Given the description of an element on the screen output the (x, y) to click on. 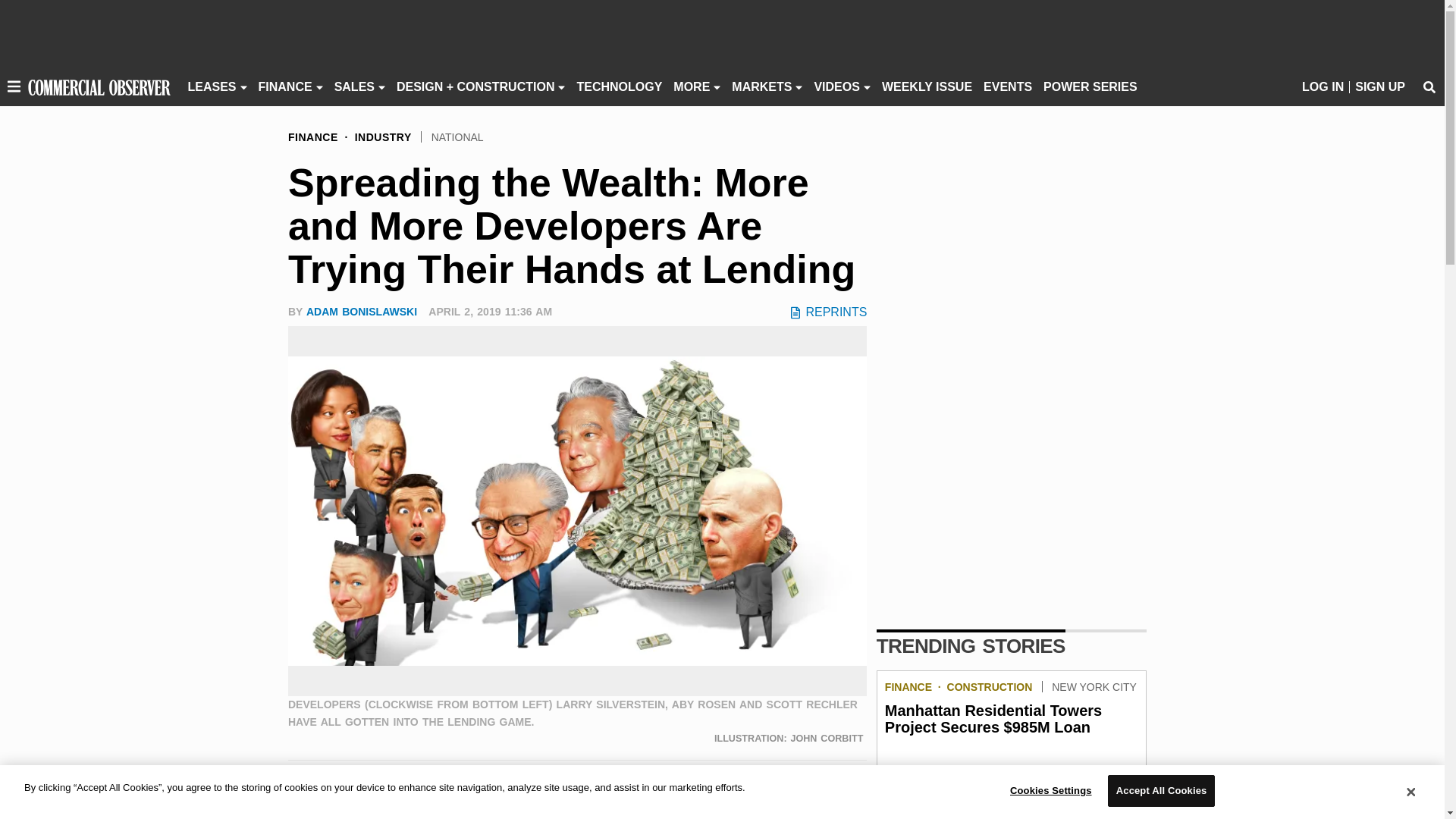
MORE (691, 86)
TECHNOLOGY (619, 86)
SALES (354, 86)
LEASES (211, 86)
FINANCE (286, 86)
Posts by Adam Bonislawski (360, 311)
Share on LinkedIn (362, 789)
Send email (392, 789)
Commercial Observer Home (98, 86)
Tweet (332, 789)
Share on Facebook (301, 789)
